Given the description of an element on the screen output the (x, y) to click on. 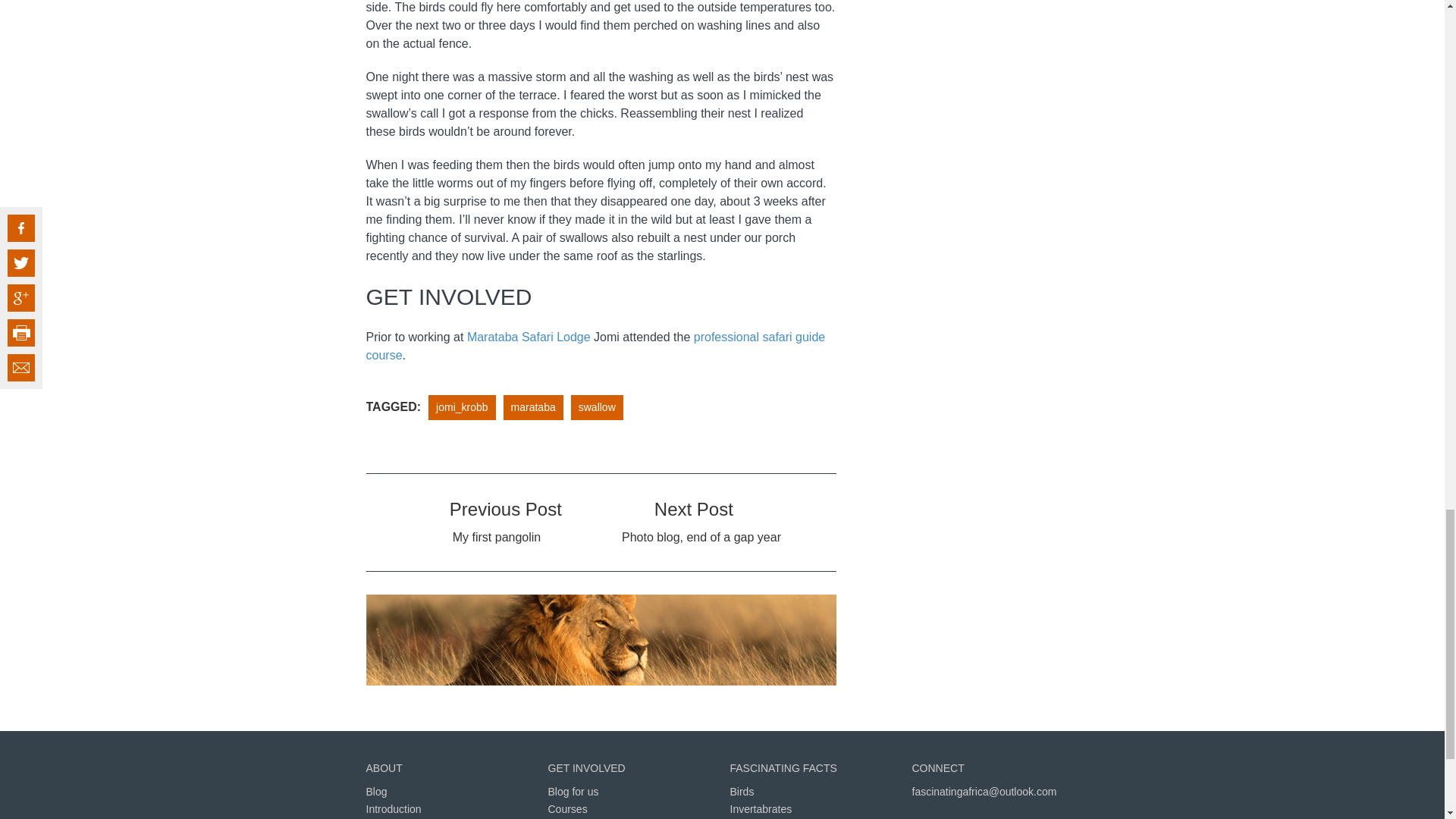
marataba (533, 407)
ABOUT (383, 767)
Marataba Safari Lodge (529, 336)
swallow (596, 407)
professional safari guide course (595, 345)
Blog (376, 791)
